Given the description of an element on the screen output the (x, y) to click on. 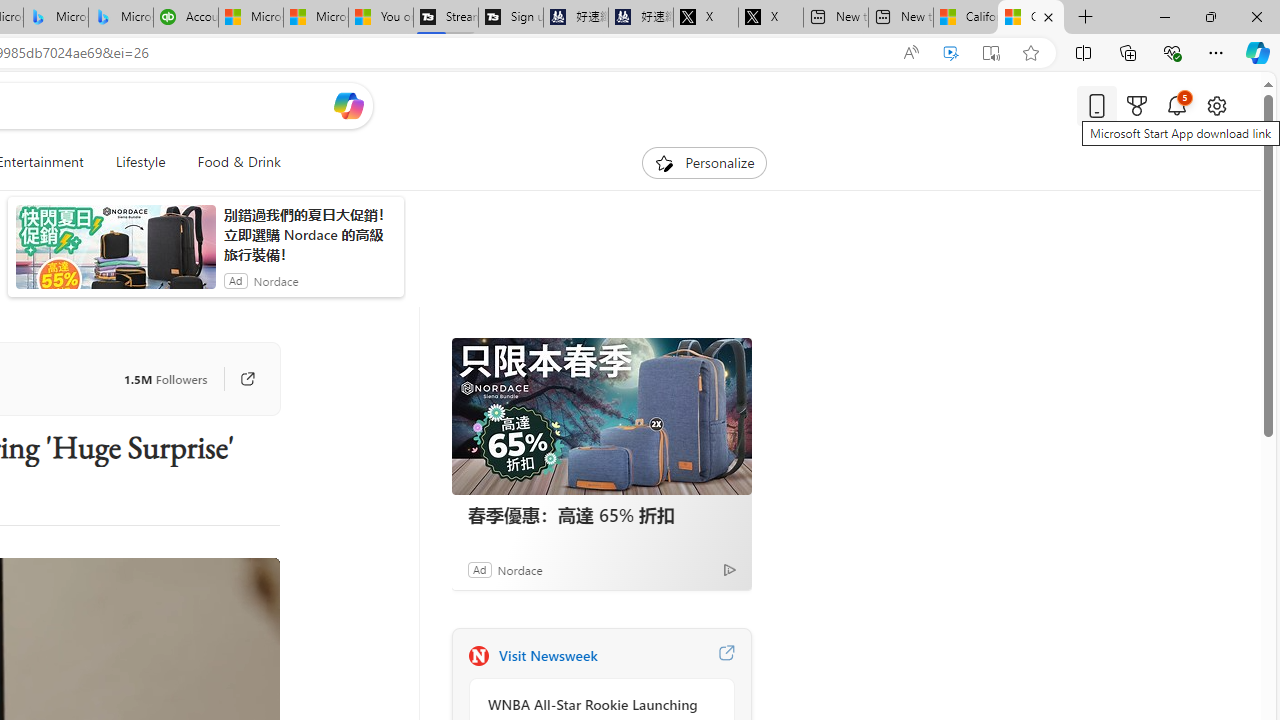
Lifestyle (140, 162)
Personalize (703, 162)
Newsweek (478, 655)
Enhance video (950, 53)
